Given the description of an element on the screen output the (x, y) to click on. 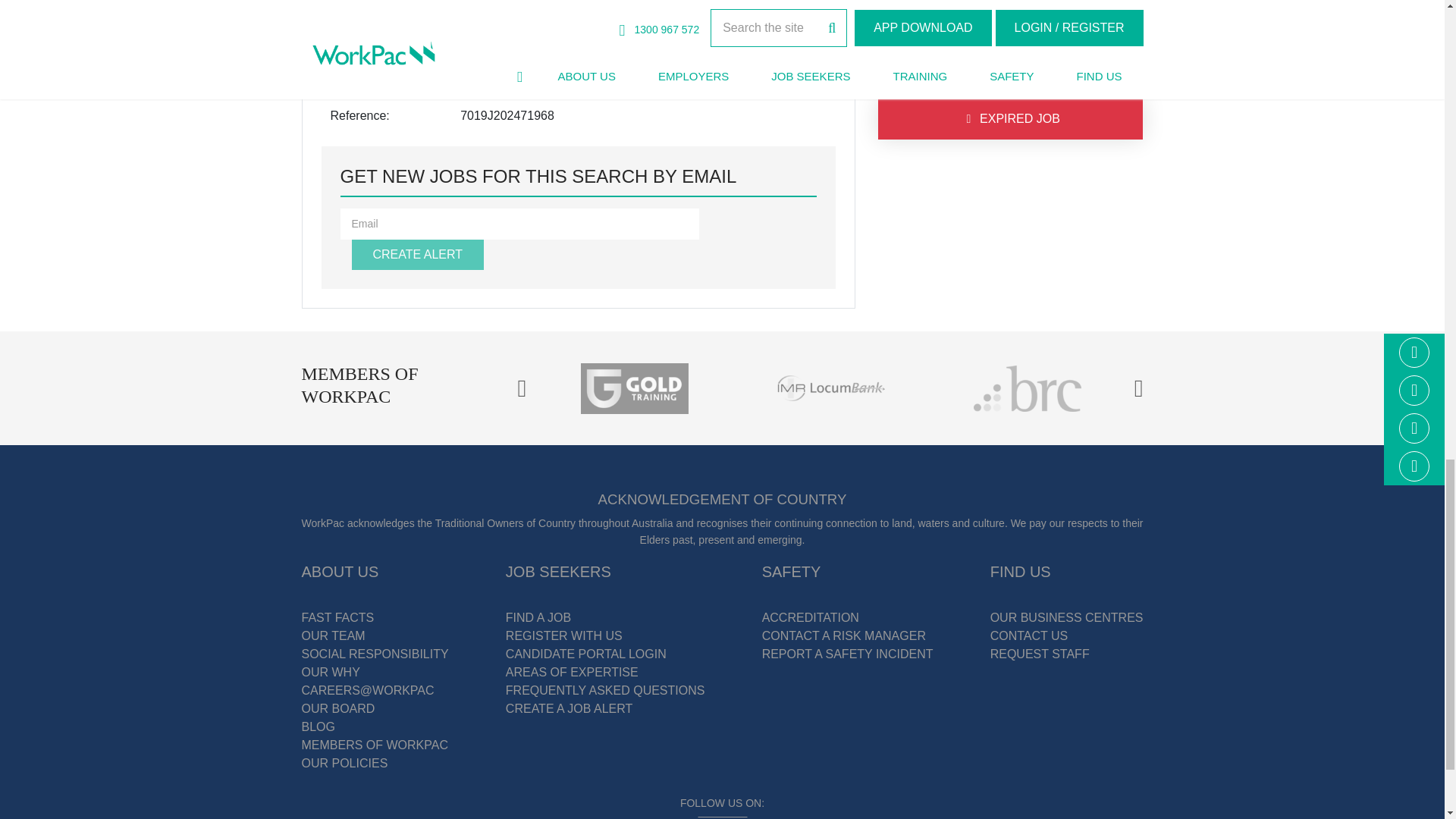
WELSHPOOL-Concrete Apprentice-Year 1 Junior-Max Term (1001, 16)
